Given the description of an element on the screen output the (x, y) to click on. 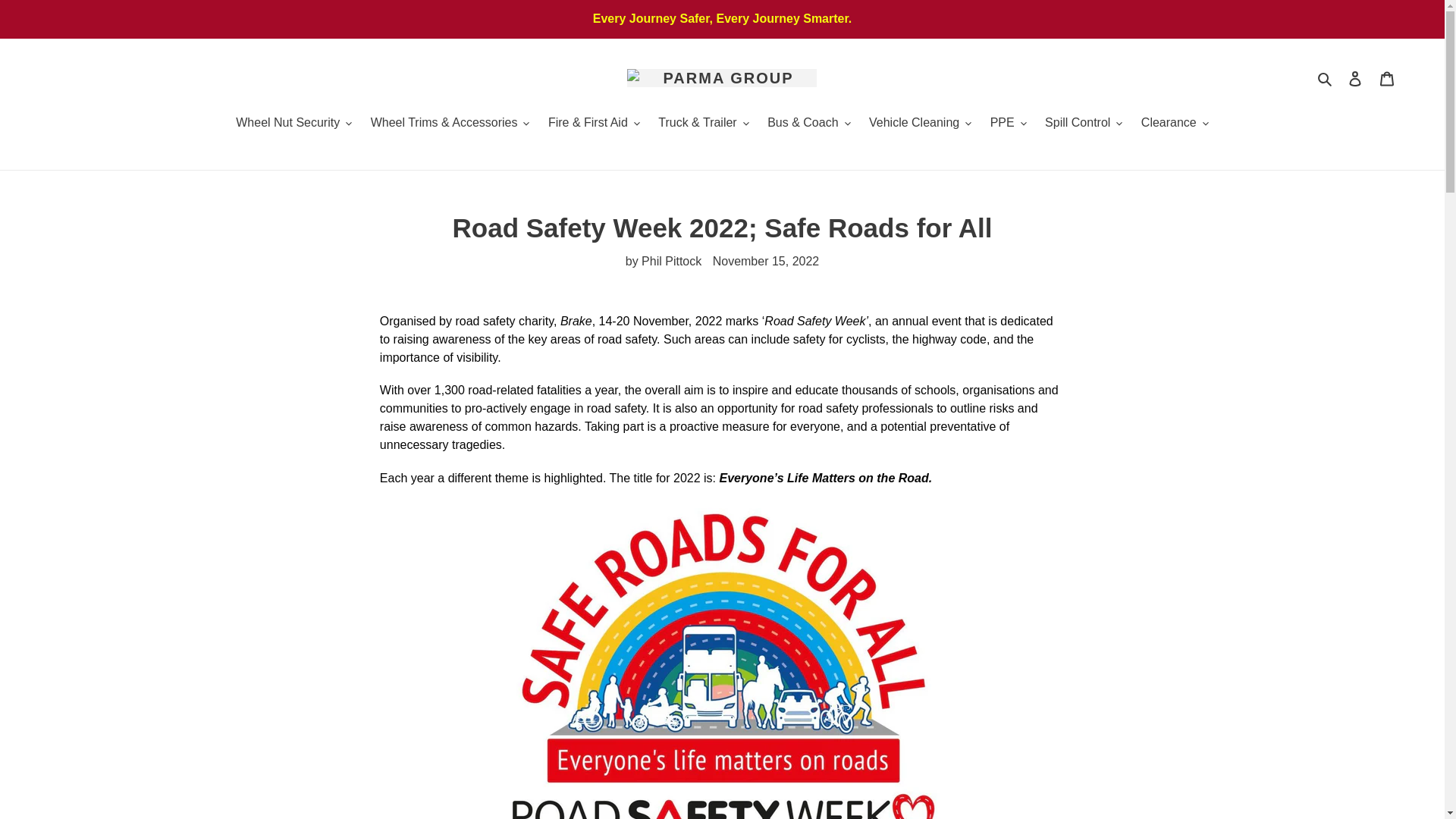
Log in (1355, 78)
Search (1326, 77)
Cart (1387, 78)
